Given the description of an element on the screen output the (x, y) to click on. 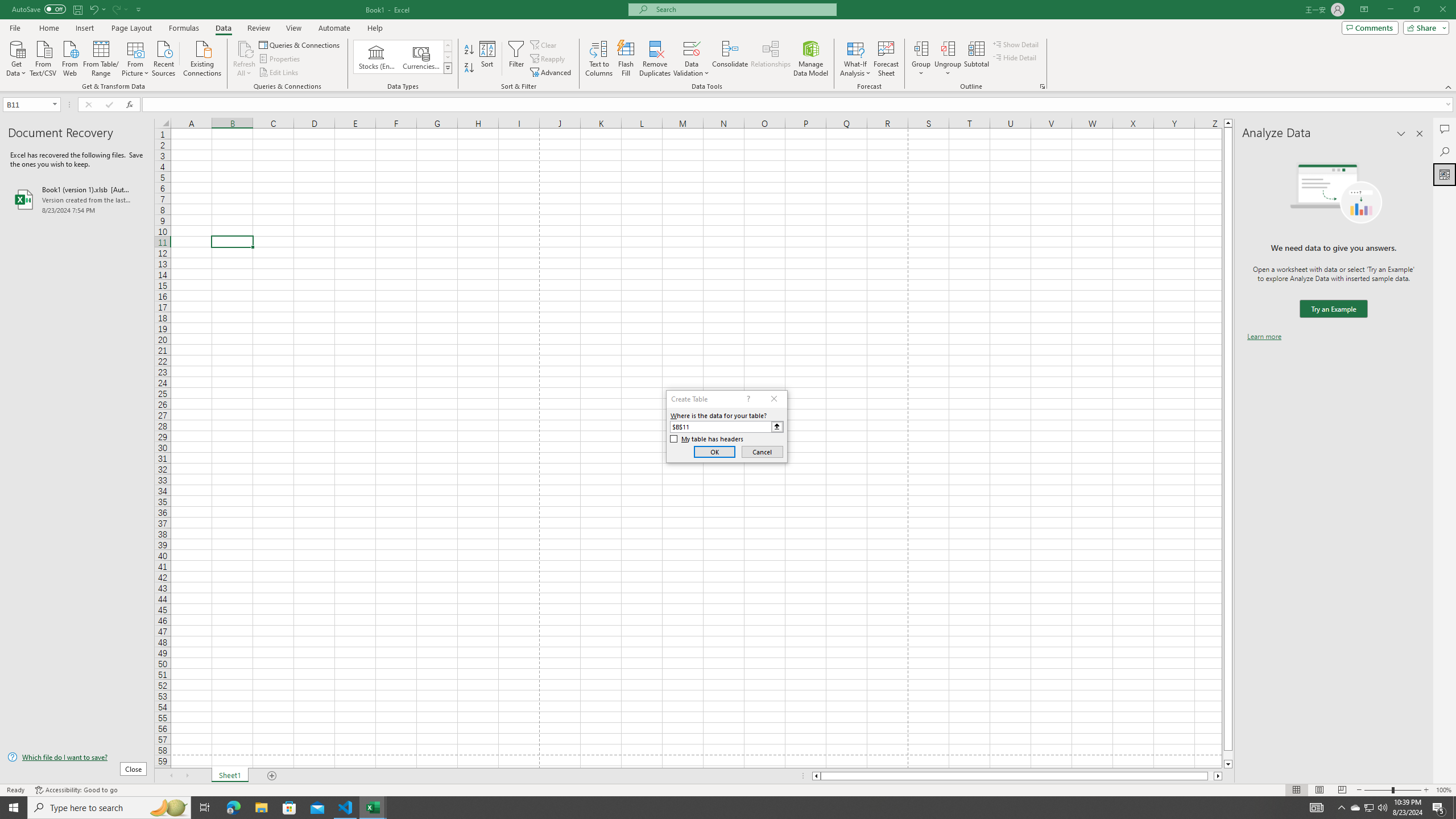
Refresh All (244, 48)
Insert (83, 28)
Comments (1444, 128)
View (293, 28)
Group and Outline Settings (1042, 85)
Currencies (English) (420, 56)
Forecast Sheet (885, 58)
Data (223, 28)
Stocks (English) (375, 56)
Formula Bar (799, 104)
Task Pane Options (1400, 133)
Class: NetUIScrollBar (1016, 775)
From Table/Range (100, 57)
AutoSave (38, 9)
Line up (1228, 122)
